Given the description of an element on the screen output the (x, y) to click on. 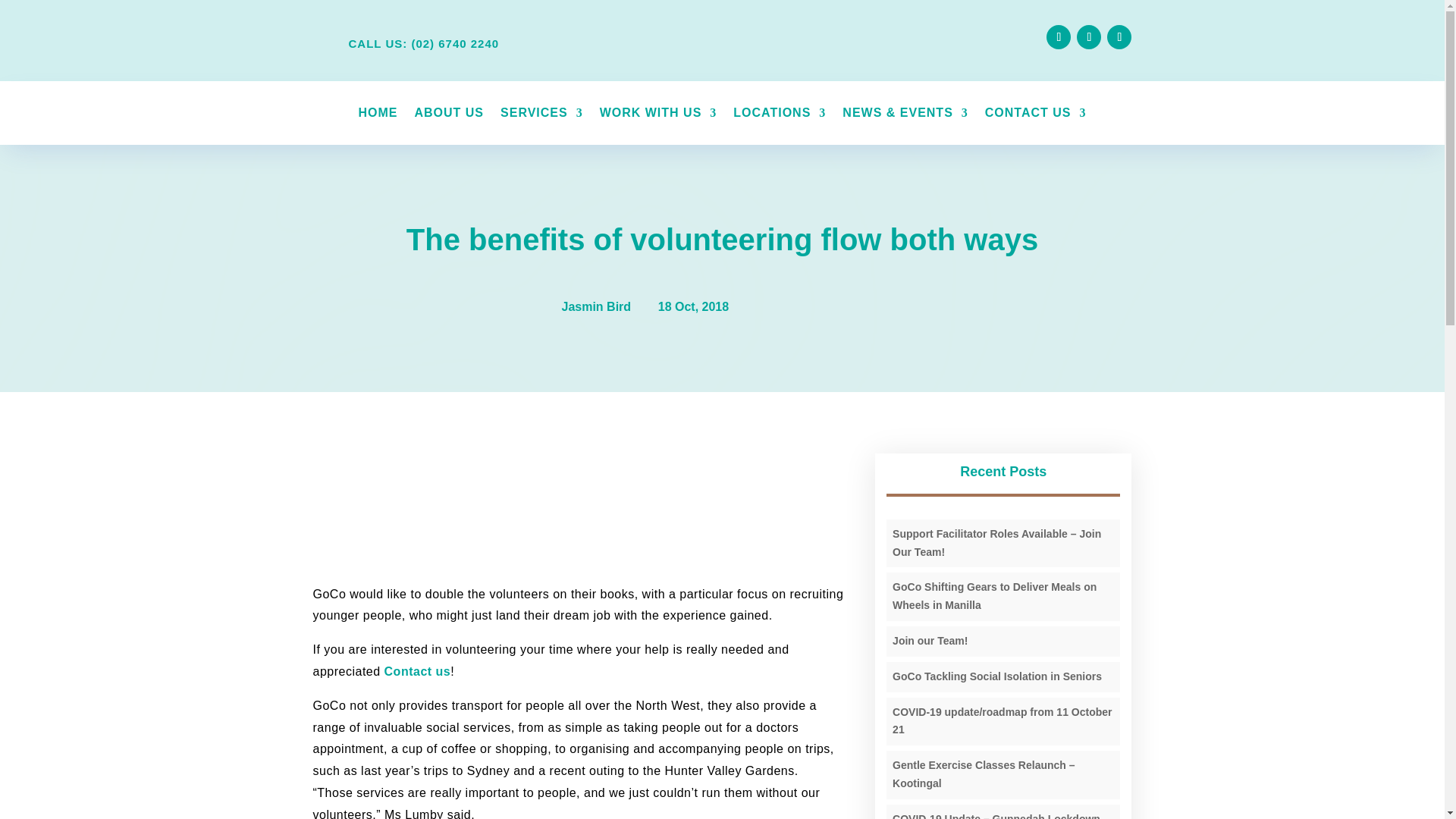
Follow on LinkedIn (1118, 37)
Follow on Instagram (1088, 37)
ABOUT US (448, 115)
CONTACT US (1035, 115)
HOME (377, 115)
Follow on Facebook (1058, 37)
LOCATIONS (779, 115)
WORK WITH US (658, 115)
SERVICES (541, 115)
